Given the description of an element on the screen output the (x, y) to click on. 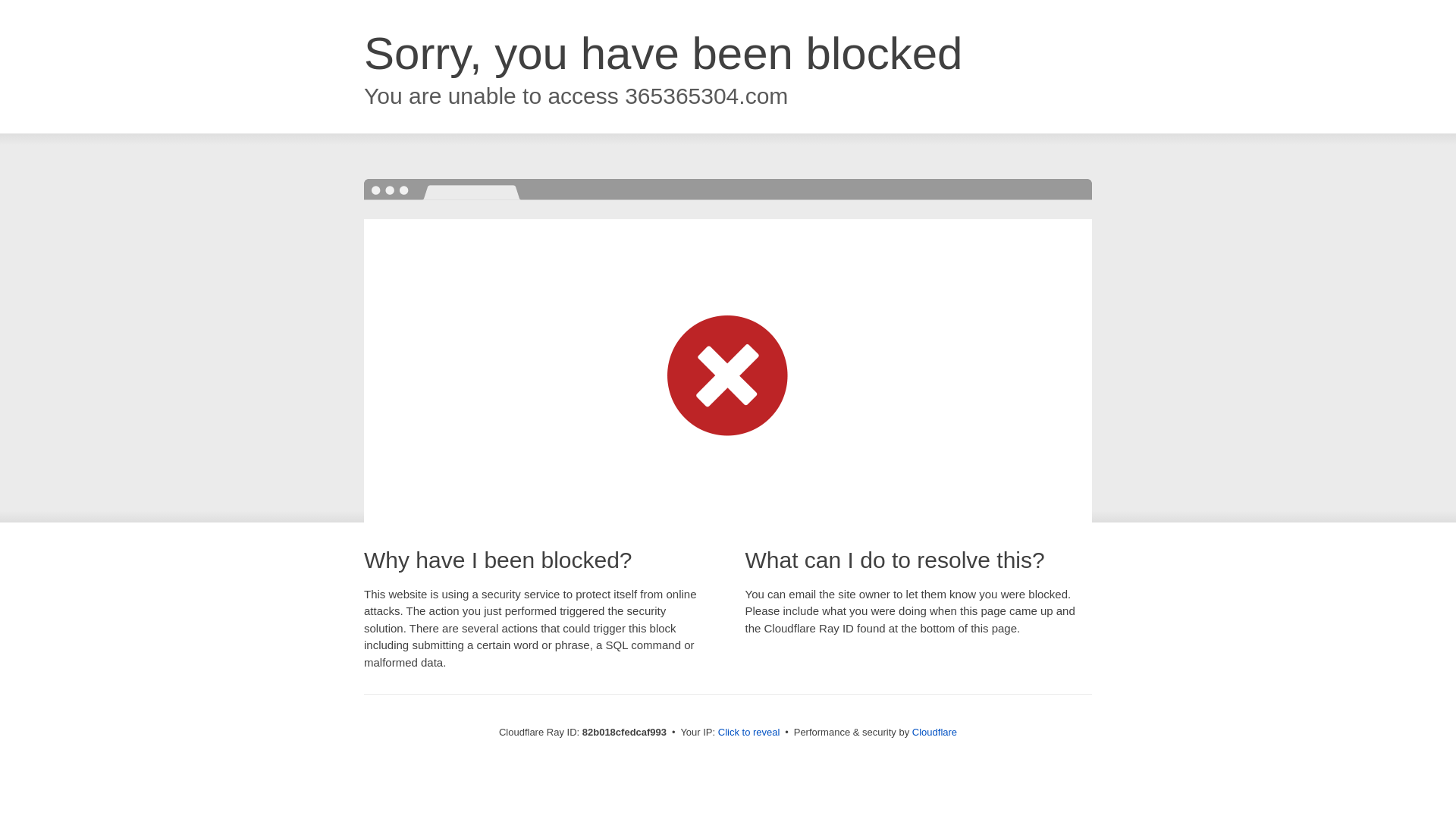
Cloudflare Element type: text (934, 731)
Click to reveal Element type: text (749, 732)
